Given the description of an element on the screen output the (x, y) to click on. 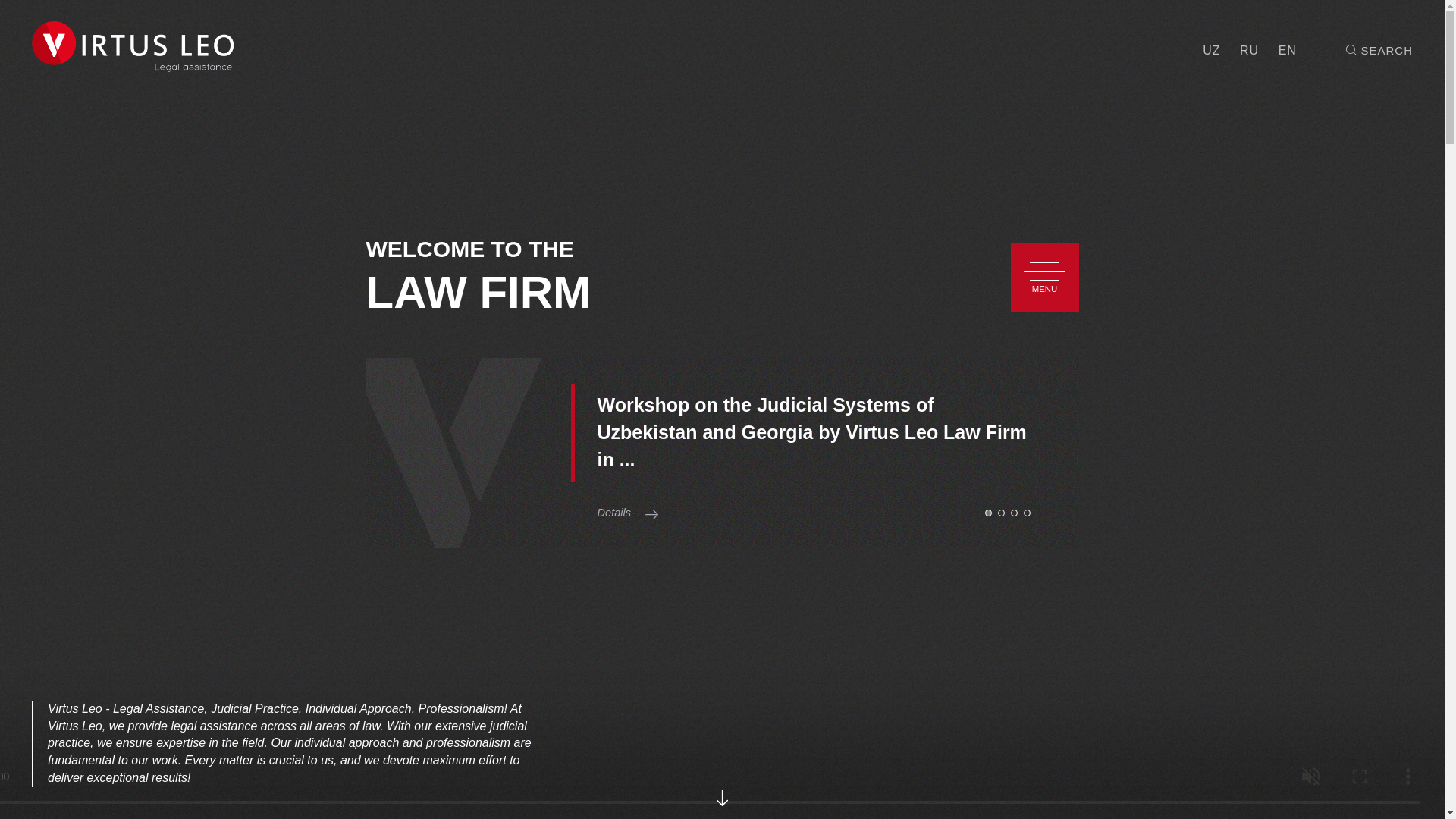
UZ (1211, 50)
EN (1287, 50)
MENU (1044, 277)
RU (1249, 50)
SEARCH (1378, 50)
Details (614, 512)
